Given the description of an element on the screen output the (x, y) to click on. 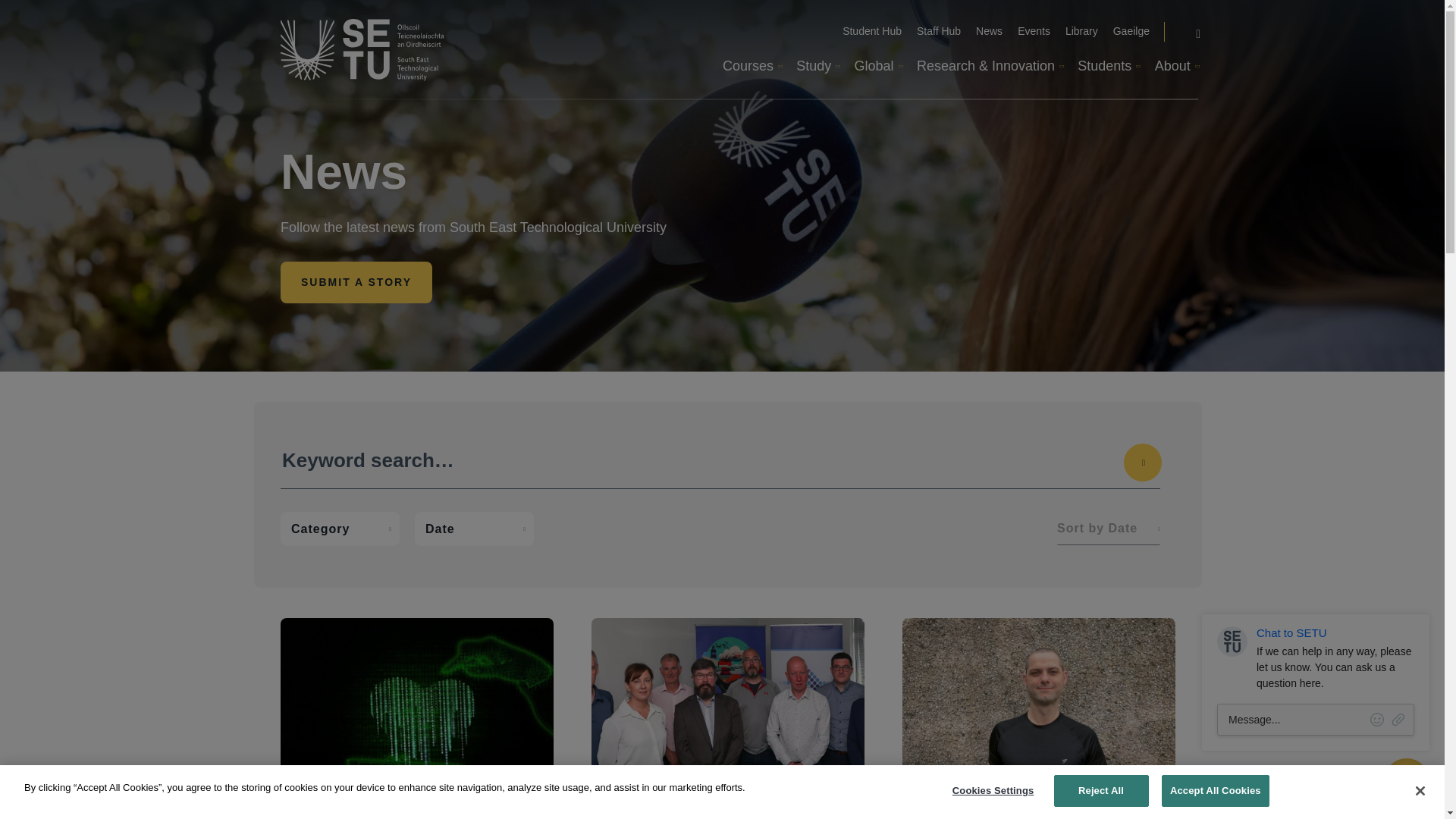
Events (1033, 31)
Library (1081, 31)
Courses (751, 66)
Student Hub (872, 31)
News (989, 31)
Staff Hub (938, 31)
Gaeilge (1131, 31)
